Given the description of an element on the screen output the (x, y) to click on. 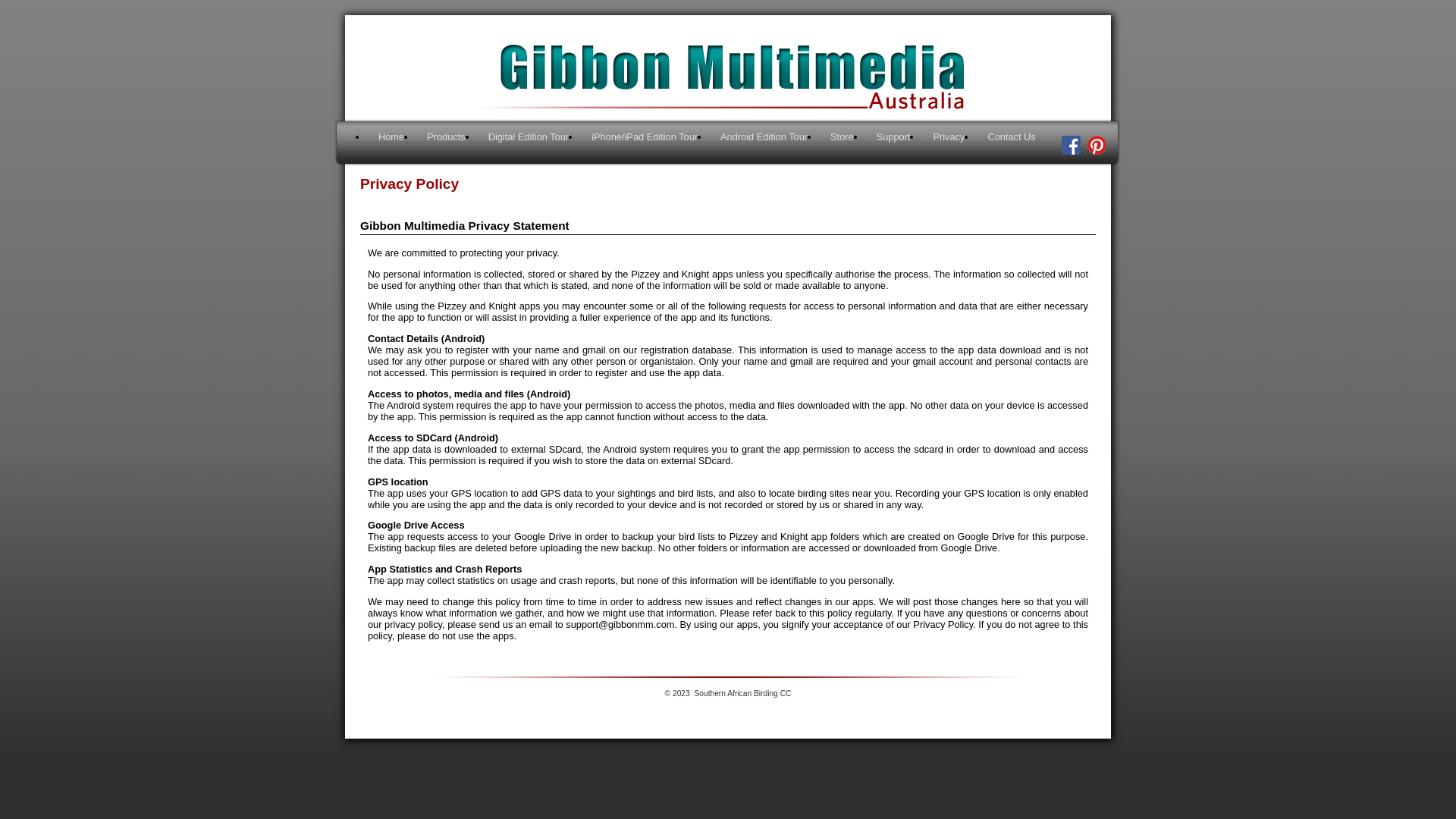
Support Element type: text (893, 136)
Follow us on Facebook Element type: hover (1070, 144)
Products Element type: text (445, 136)
Digital Edition Tour Element type: text (528, 136)
Privacy Element type: text (948, 136)
Contact Us Element type: text (1010, 136)
Follow us on Facebook Element type: hover (1068, 150)
Android Edition Tour Element type: text (764, 136)
Store Element type: text (842, 136)
Home Element type: text (391, 136)
Follow us on Pinterest Element type: hover (1094, 150)
iPhone/iPad Edition Tour Element type: text (644, 136)
Follow us on Pinterest Element type: hover (1096, 144)
